Given the description of an element on the screen output the (x, y) to click on. 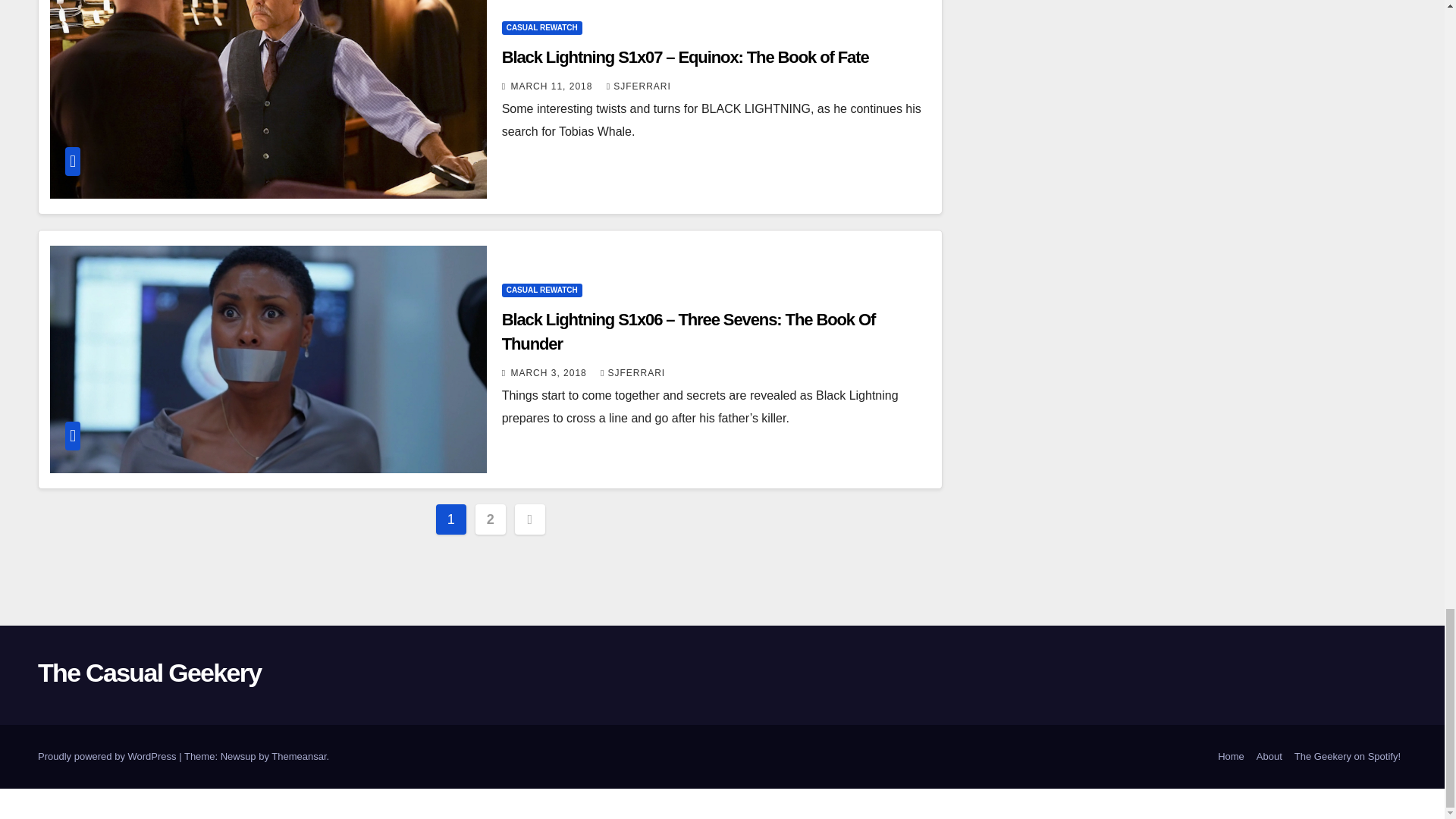
Home (1230, 756)
